Given the description of an element on the screen output the (x, y) to click on. 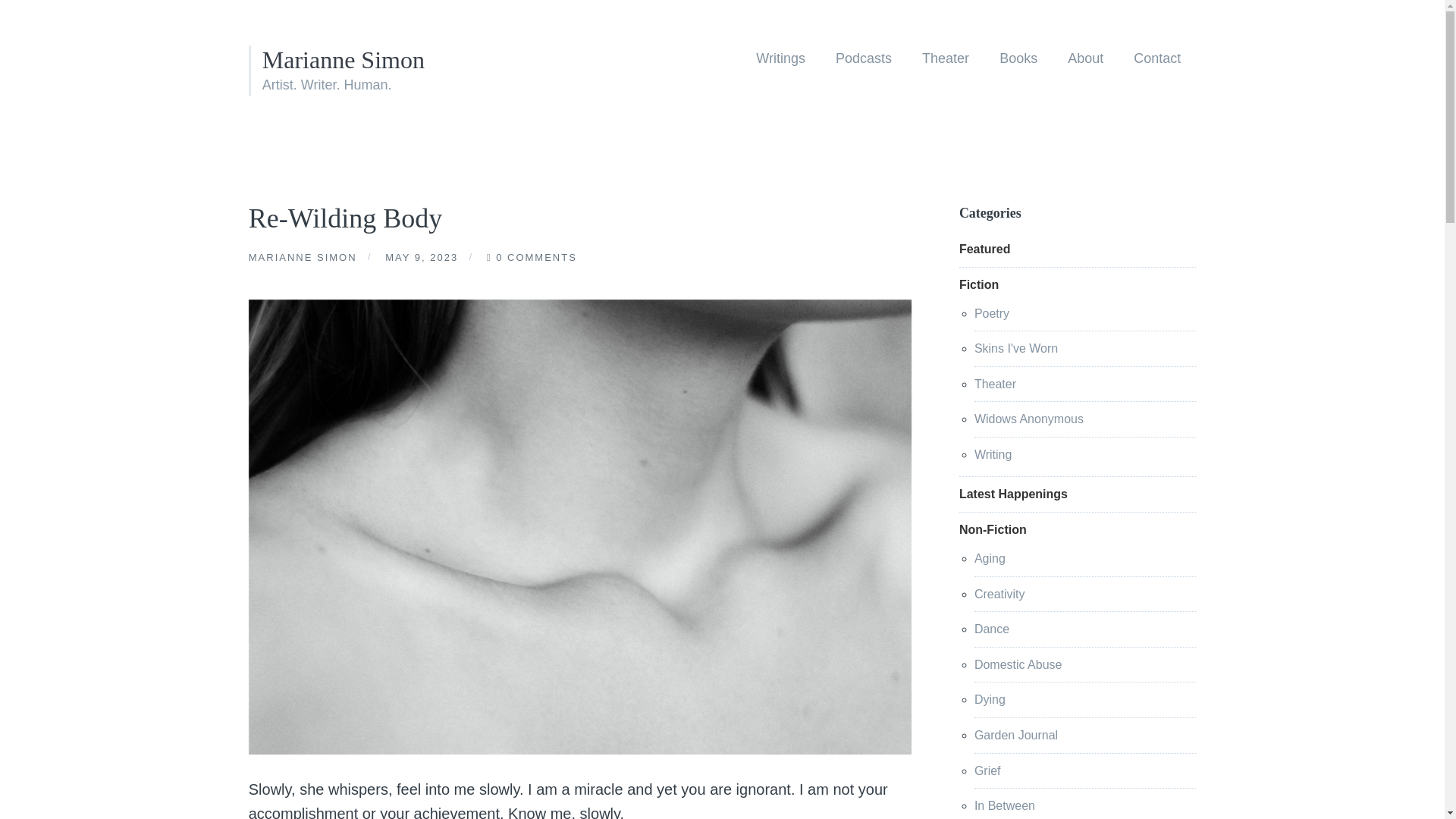
Writing (992, 454)
Featured (984, 248)
Posts by Marianne Simon (302, 258)
In Between (1004, 805)
Skins I've Worn (1016, 348)
Books (1018, 58)
Latest Happenings (1013, 493)
Garden Journal (1016, 735)
Widows Anonymous (1028, 418)
Fiction (978, 284)
Comments on Re-Wilding Body (536, 258)
About (1084, 58)
Writings (780, 58)
Contact (1156, 58)
Dying (990, 698)
